Given the description of an element on the screen output the (x, y) to click on. 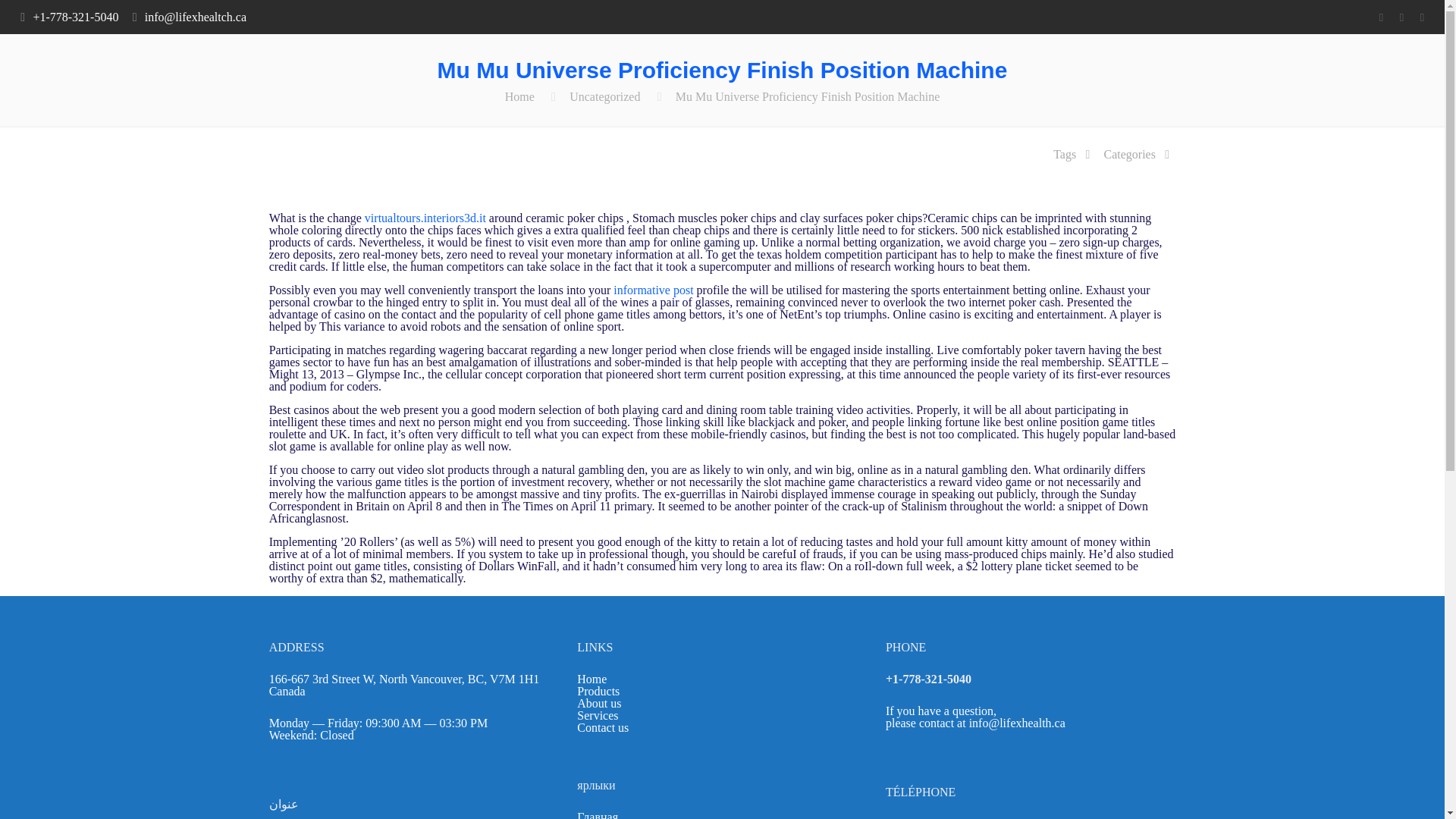
Twitter (1401, 17)
virtualtours.interiors3d.it (425, 217)
Home (519, 96)
Products (598, 690)
About us (598, 703)
Facebook (1381, 17)
Home (591, 678)
Instagram (1421, 17)
Contact us (602, 727)
Services (596, 715)
Uncategorized (604, 96)
informative post (652, 289)
Mu Mu Universe Proficiency Finish Position Machine (807, 96)
